Given the description of an element on the screen output the (x, y) to click on. 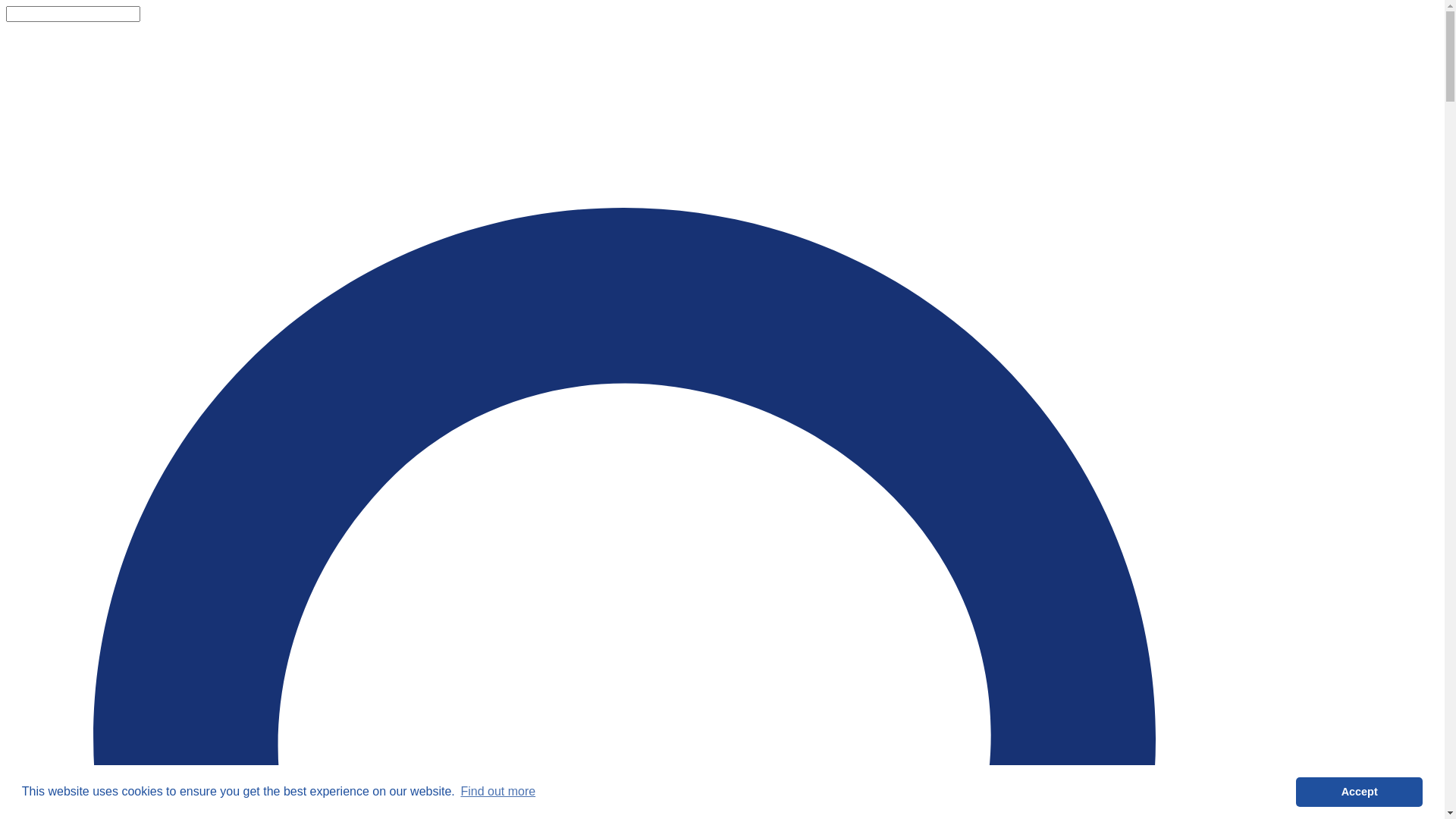
Find out more Element type: text (497, 791)
Accept Element type: text (1358, 791)
